Given the description of an element on the screen output the (x, y) to click on. 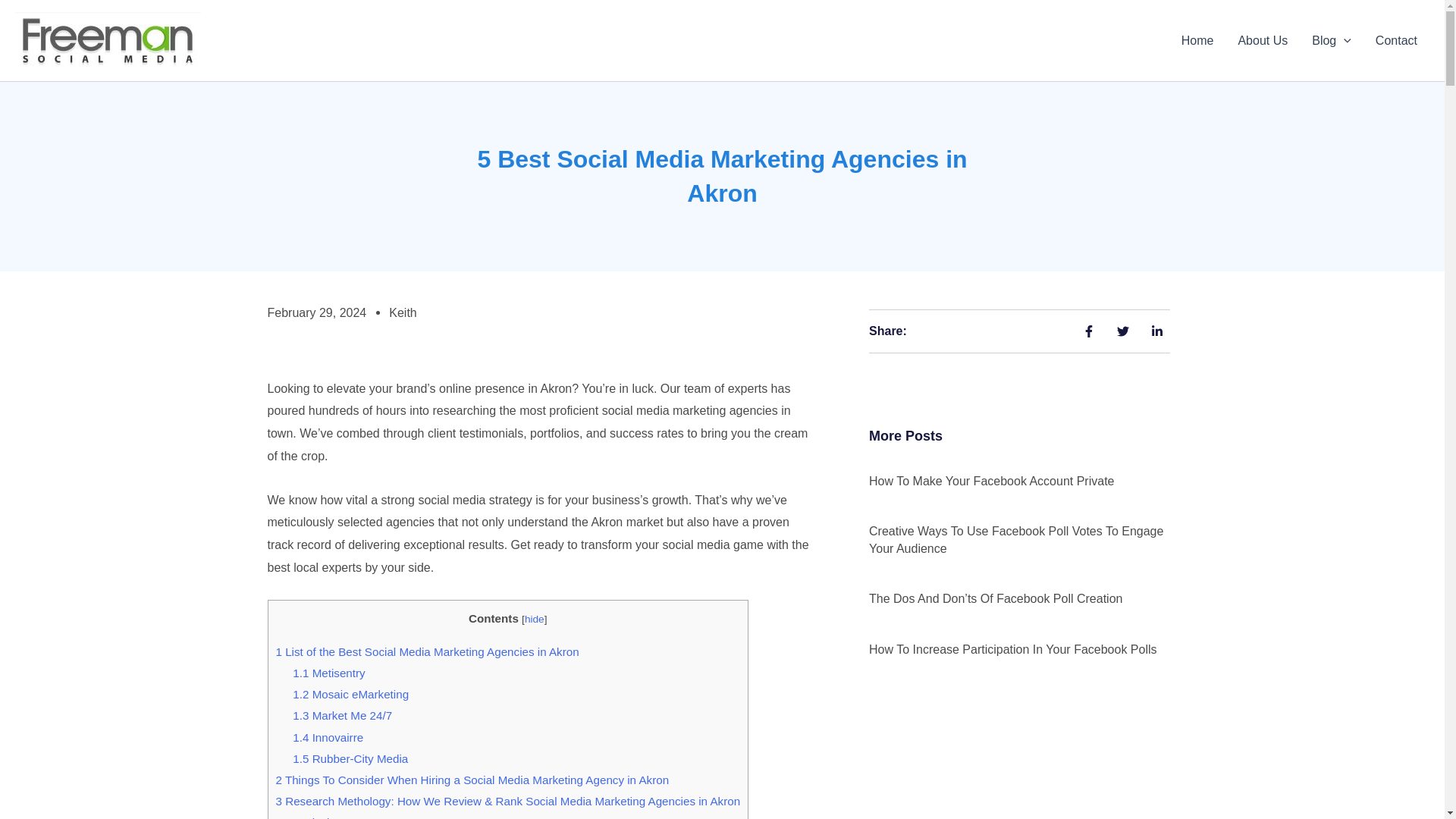
4 Conclusion (309, 817)
About Us (1262, 40)
1.2 Mosaic eMarketing (350, 694)
1.4 Innovairre (327, 737)
1.5 Rubber-City Media (349, 758)
1 List of the Best Social Media Marketing Agencies in Akron (427, 651)
1.1 Metisentry (328, 672)
hide (534, 618)
Home (1197, 40)
Keith (402, 313)
Contact (1395, 40)
Blog (1331, 40)
February 29, 2024 (316, 313)
